Given the description of an element on the screen output the (x, y) to click on. 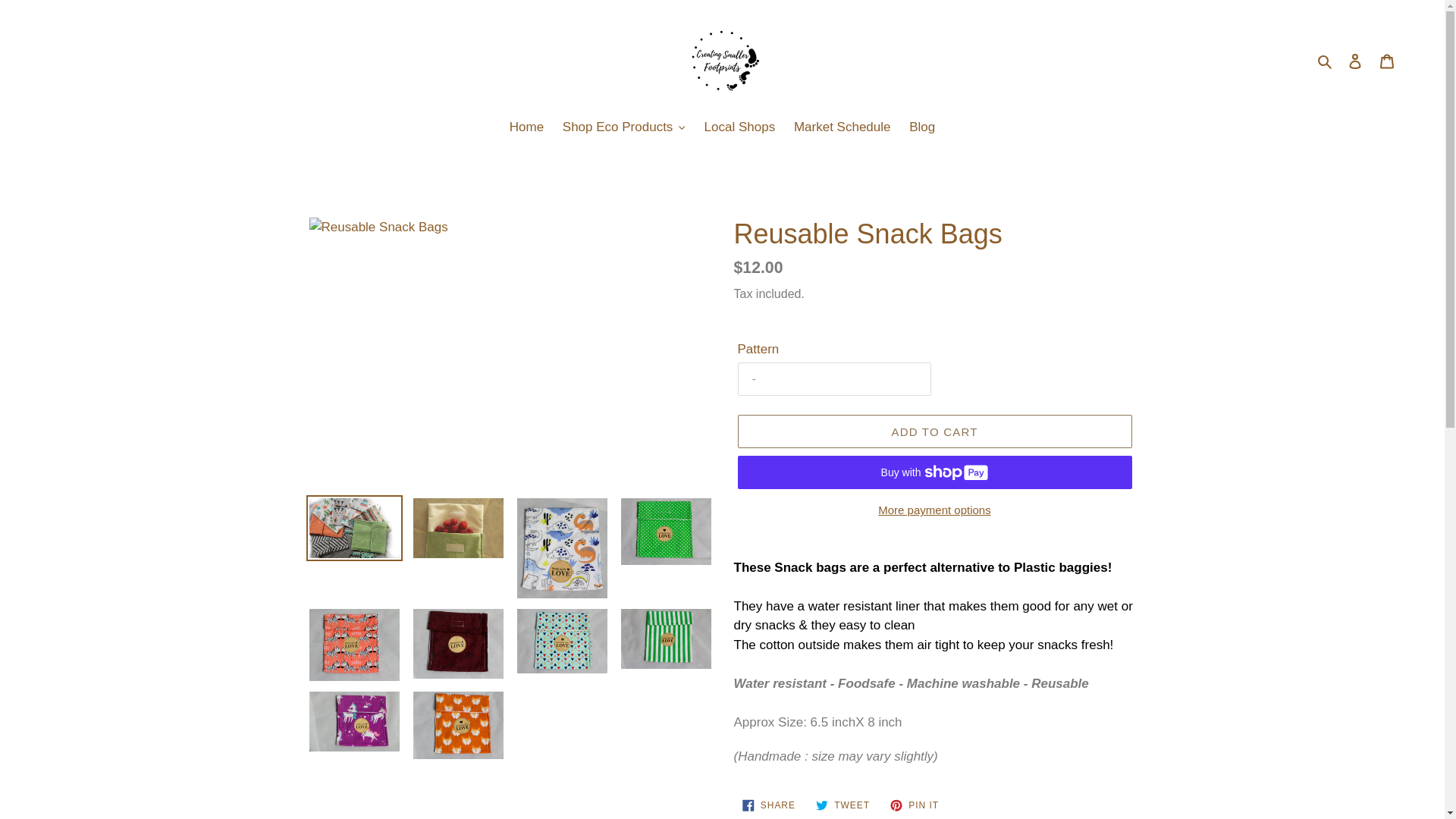
Search (1326, 60)
Log in (1355, 60)
Cart (1387, 60)
Market Schedule (842, 128)
Blog (921, 128)
Local Shops (740, 128)
Home (526, 128)
Shop Eco Products (623, 128)
